Given the description of an element on the screen output the (x, y) to click on. 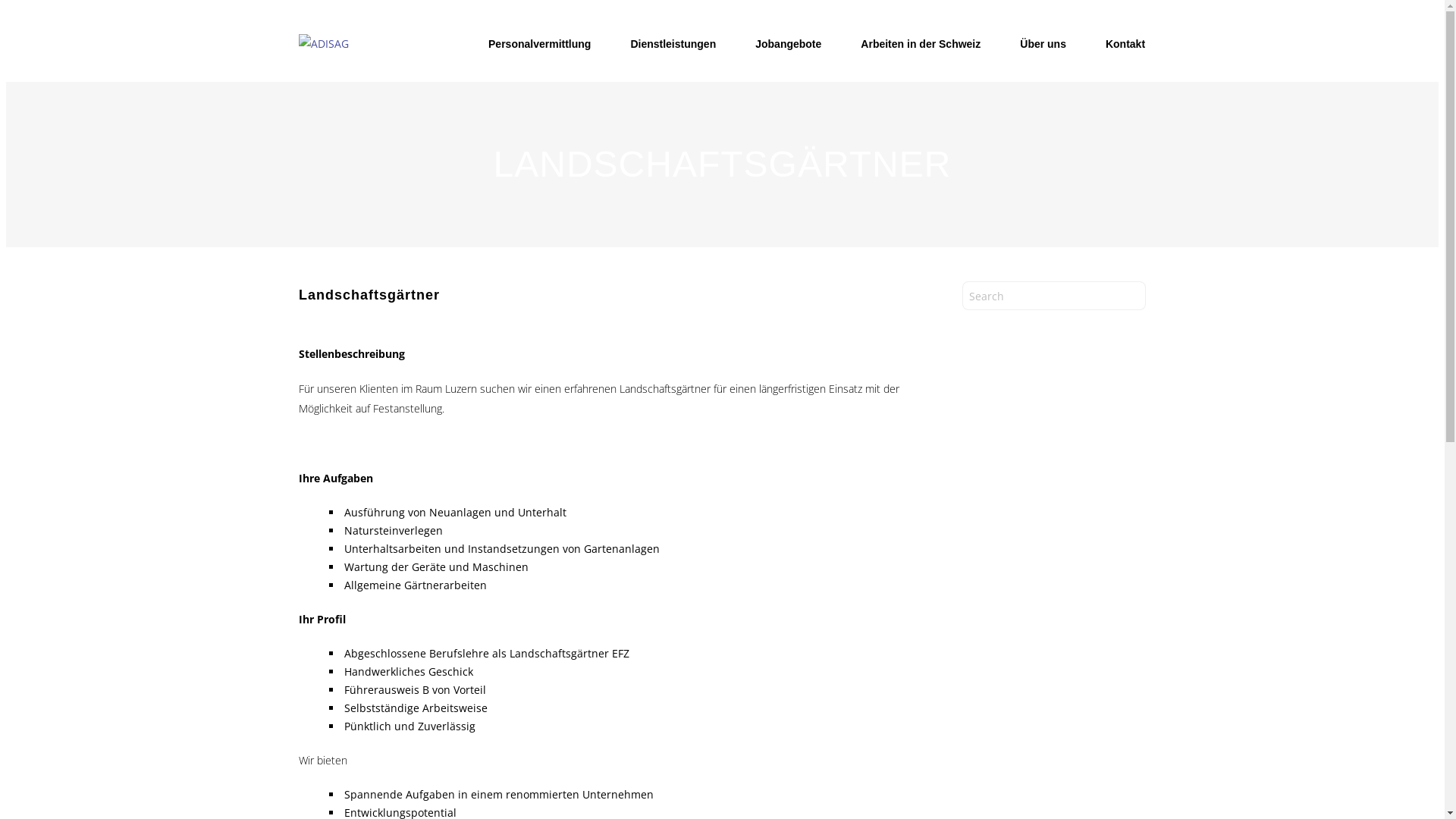
Jobangebote Element type: text (788, 43)
Dienstleistungen Element type: text (672, 43)
Arbeiten in der Schweiz Element type: text (920, 43)
Kontakt Element type: text (1124, 43)
Personalvermittlung Element type: text (539, 43)
